Given the description of an element on the screen output the (x, y) to click on. 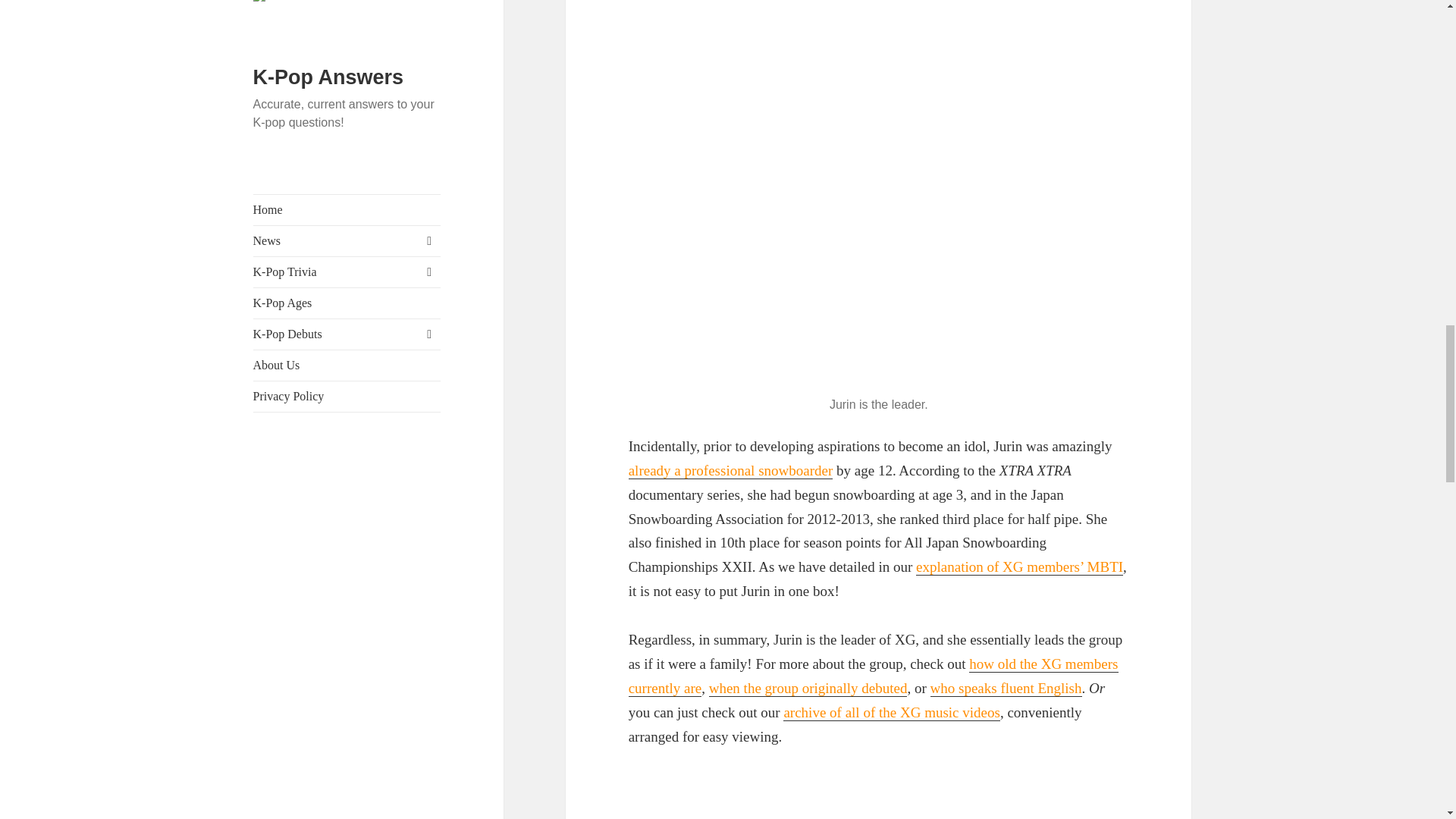
when the group originally debuted (808, 688)
who speaks fluent English (1005, 688)
archive of all of the XG music videos (890, 712)
how old the XG members currently are (873, 676)
already a professional snowboarder (730, 470)
